Given the description of an element on the screen output the (x, y) to click on. 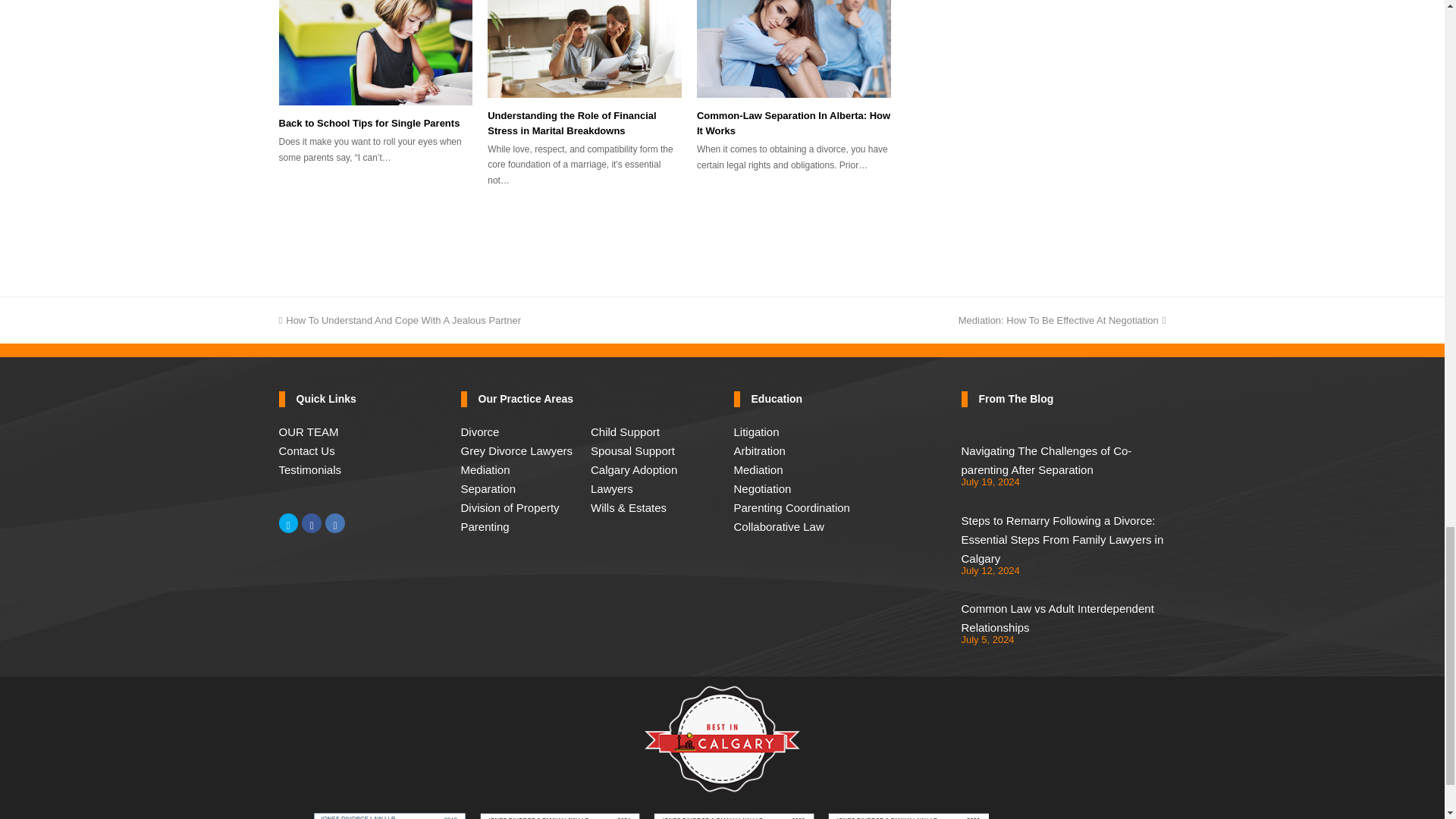
LinkedIn (334, 523)
Back to School Tips for Single Parents (376, 52)
Twitter (288, 523)
Facebook (311, 523)
Common-Law Separation In Alberta: How It Works (794, 48)
Best Lawyers - Lawyer Logo (908, 816)
